Given the description of an element on the screen output the (x, y) to click on. 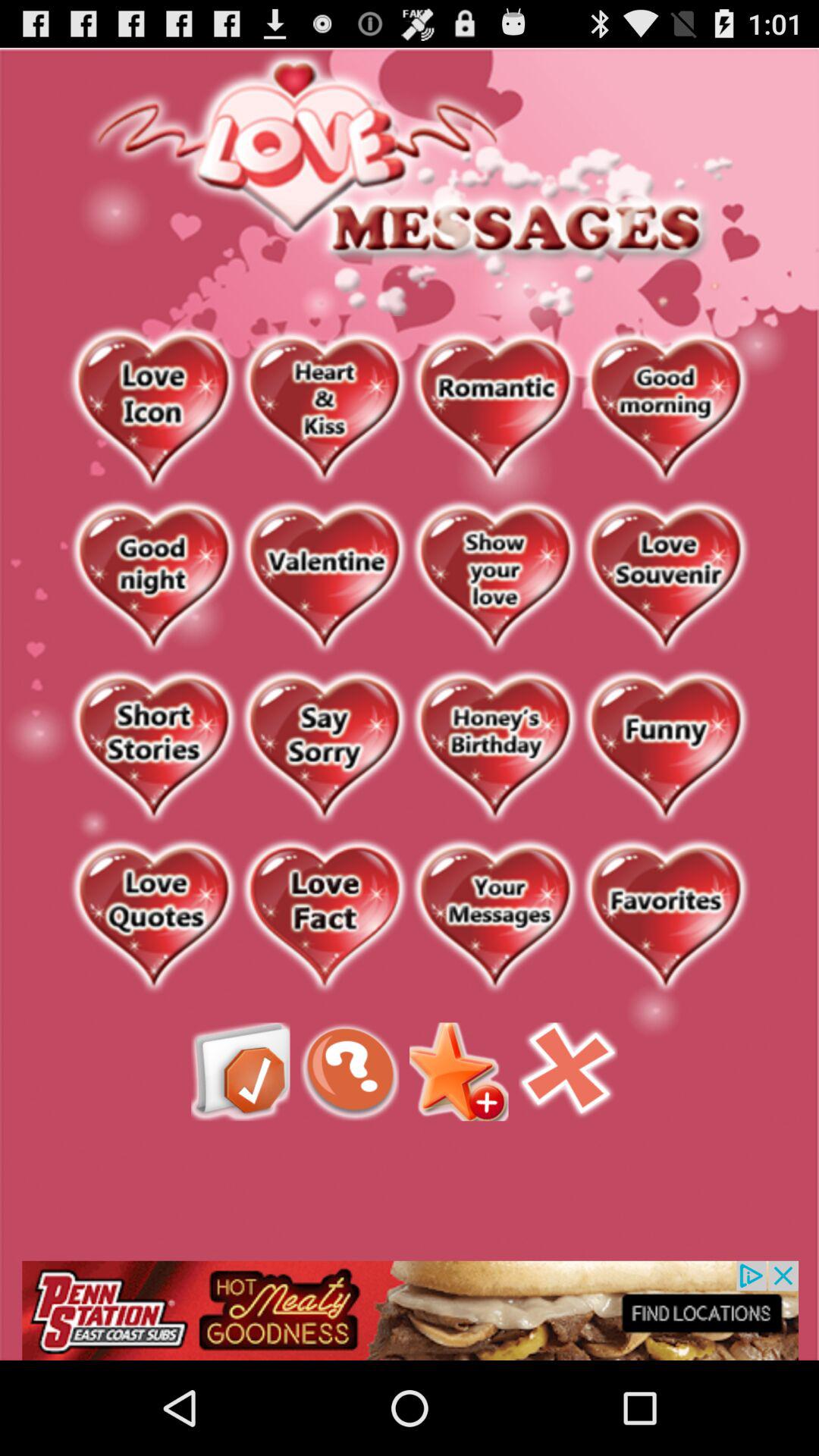
see funny messages (665, 747)
